Given the description of an element on the screen output the (x, y) to click on. 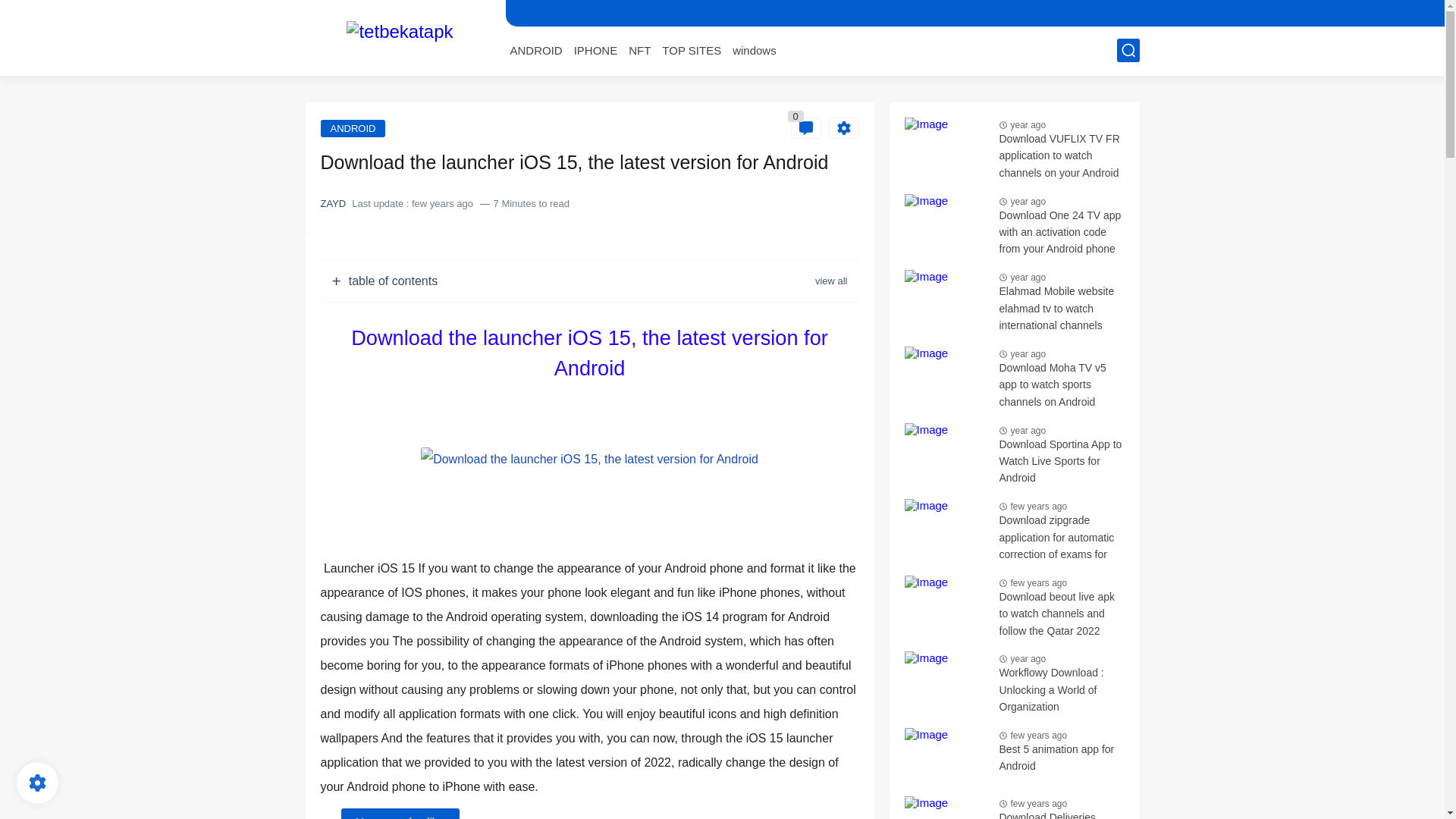
ANDROID (535, 50)
TOP SITES (691, 50)
Download the launcher iOS 15, the latest version for Android (589, 459)
TOP SITES (691, 50)
IPHONE (595, 50)
windows (754, 50)
IPHONE (595, 50)
0 (805, 127)
ANDROID (535, 50)
